Given the description of an element on the screen output the (x, y) to click on. 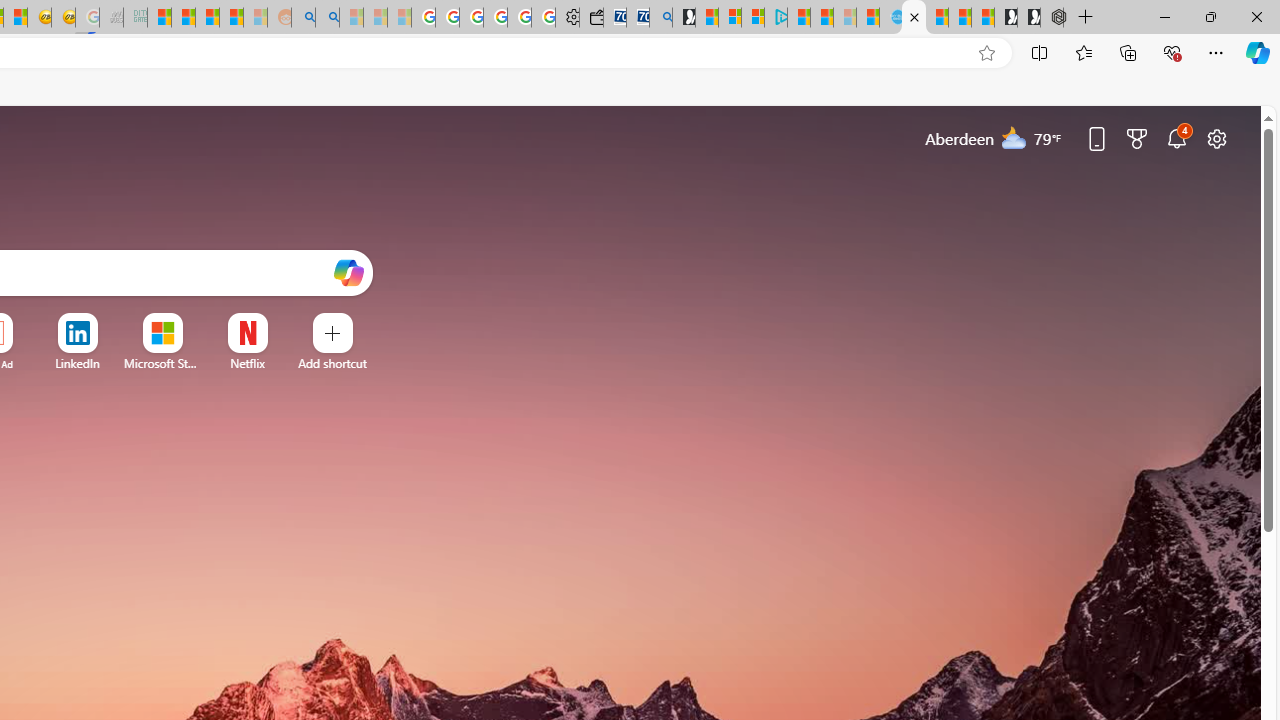
Student Loan Update: Forgiveness Program Ends This Month (231, 17)
Bing Real Estate - Home sales and rental listings (660, 17)
